Given the description of an element on the screen output the (x, y) to click on. 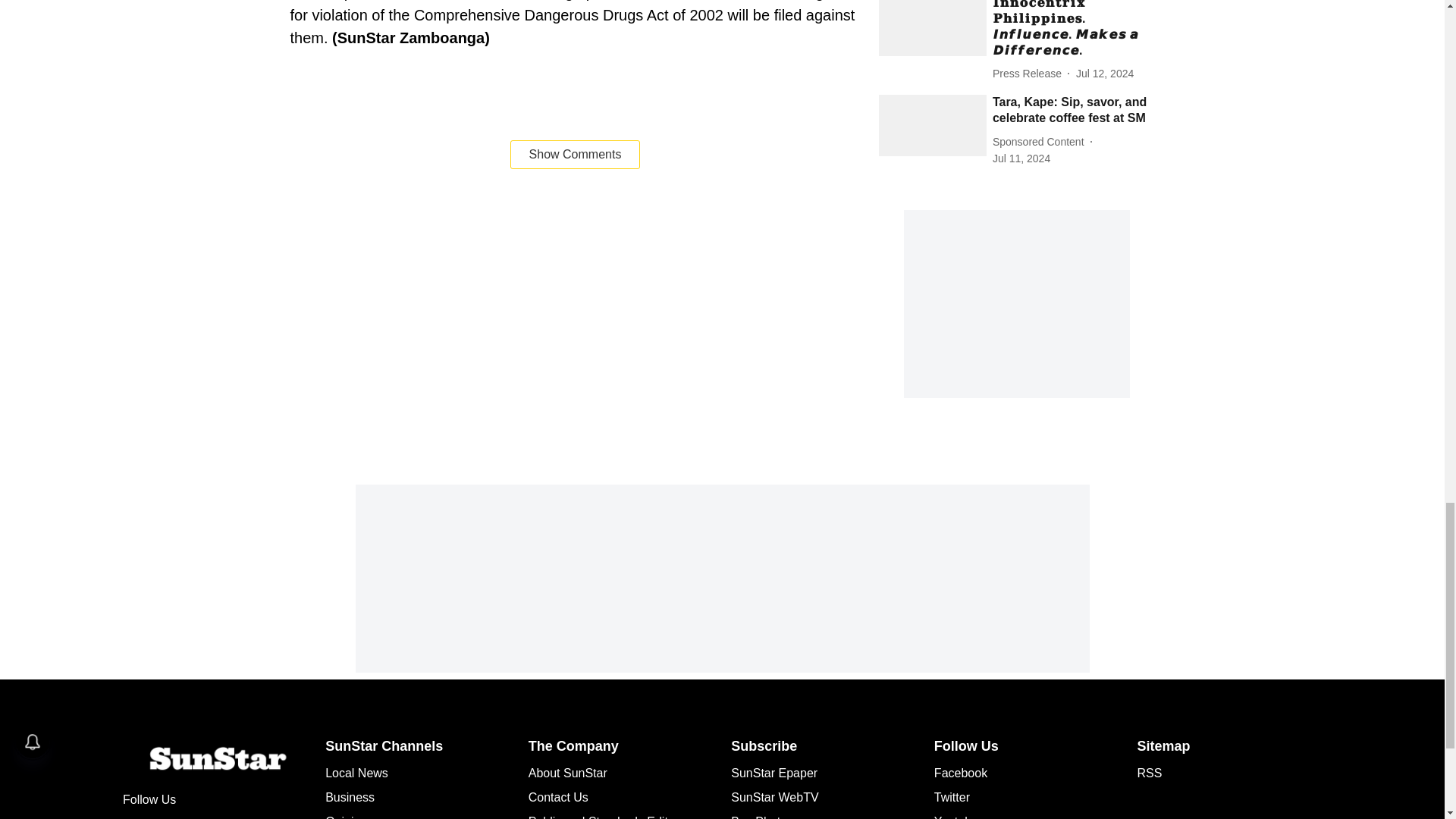
Show Comments (575, 154)
2024-07-12 02:00 (1104, 73)
2024-07-11 00:59 (1020, 158)
